Given the description of an element on the screen output the (x, y) to click on. 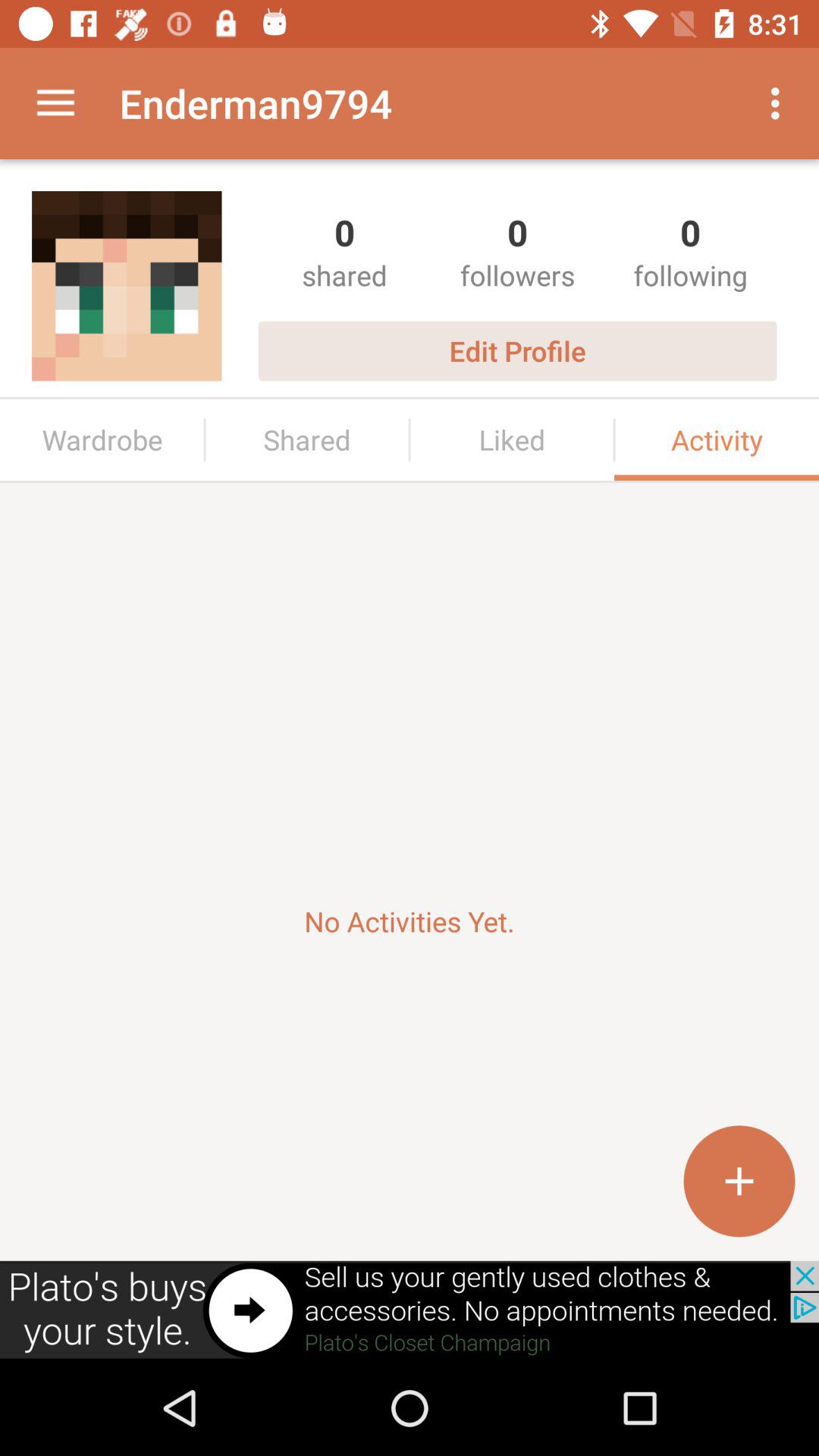
select advertisement (409, 1310)
